Given the description of an element on the screen output the (x, y) to click on. 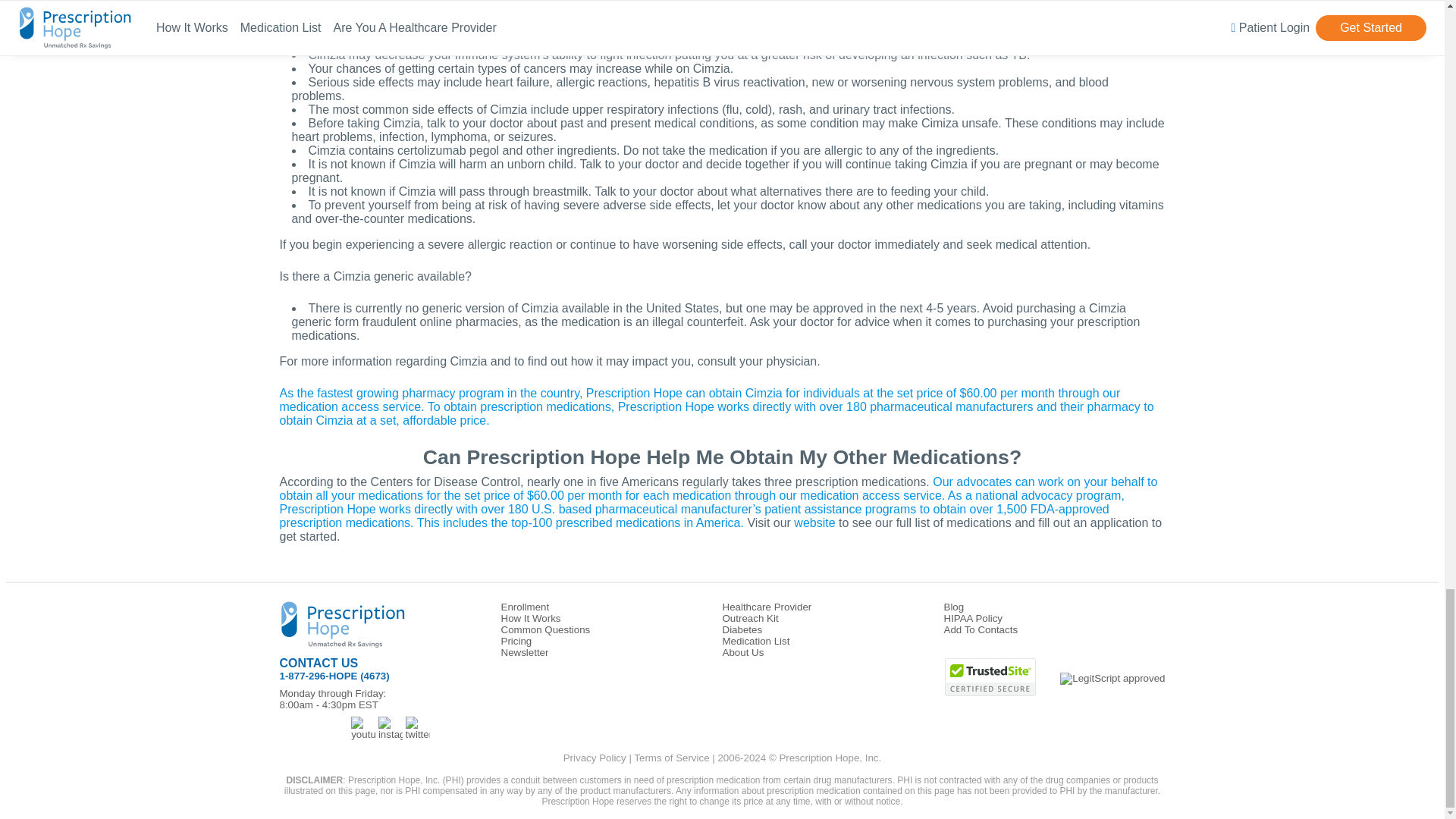
Pricing (515, 641)
Medication List (755, 641)
Verify LegitScript Approval (1111, 678)
How It Works (530, 618)
website (813, 522)
Common Questions (544, 629)
CONTACT US (318, 662)
TrustedSite Certified (989, 677)
Outreach Kit (749, 618)
Healthcare Provider (766, 606)
HIPAA Policy (973, 618)
Add To Contacts (980, 629)
Blog (953, 606)
About Us (742, 652)
Enrollment (524, 606)
